Given the description of an element on the screen output the (x, y) to click on. 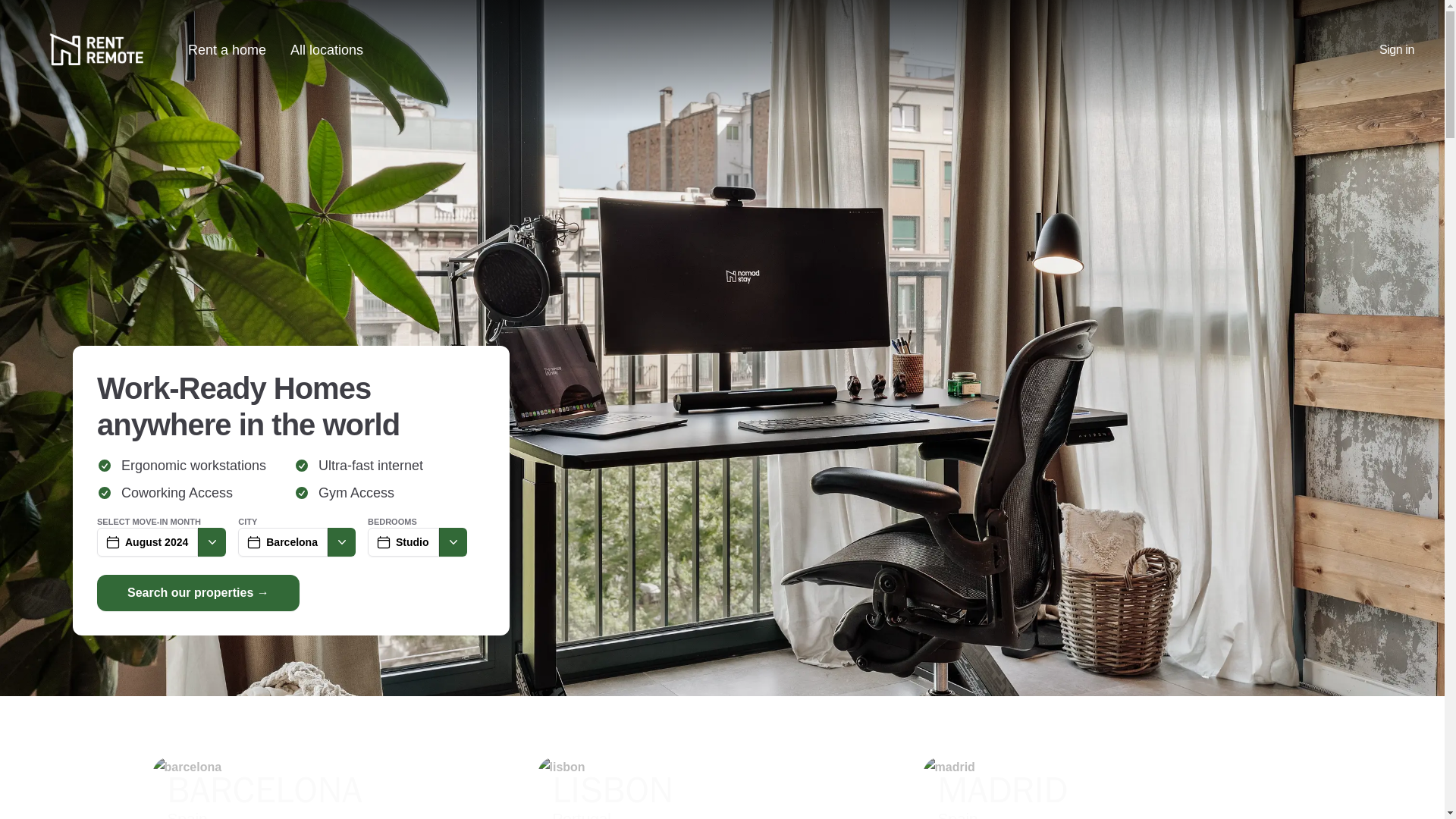
Select month (1106, 787)
Sign in (341, 541)
Rent a home (722, 787)
Select month (1395, 49)
All locations (226, 49)
Select month (451, 541)
